Given the description of an element on the screen output the (x, y) to click on. 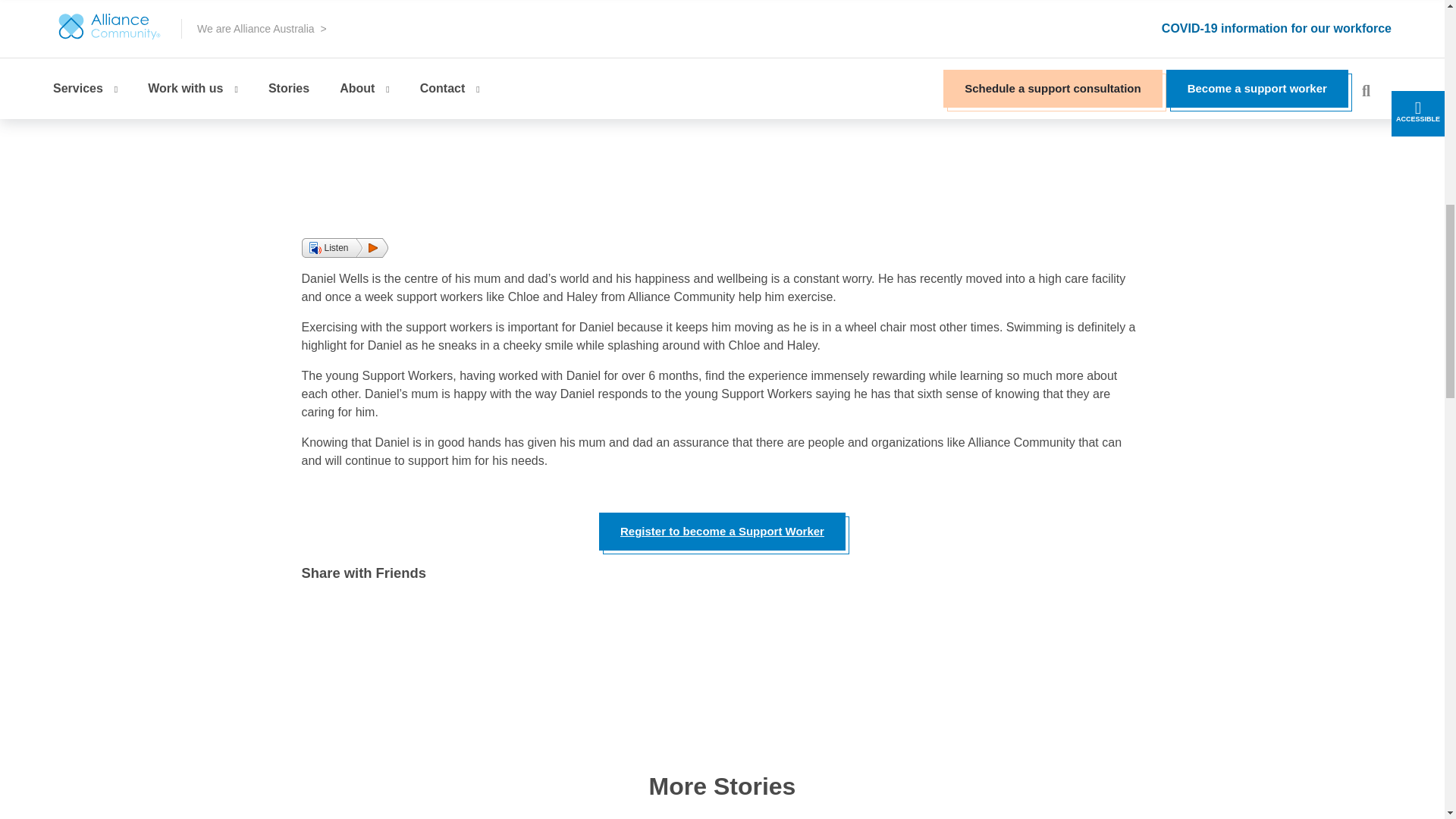
Listen to this page using ReadSpeaker (344, 247)
